Given the description of an element on the screen output the (x, y) to click on. 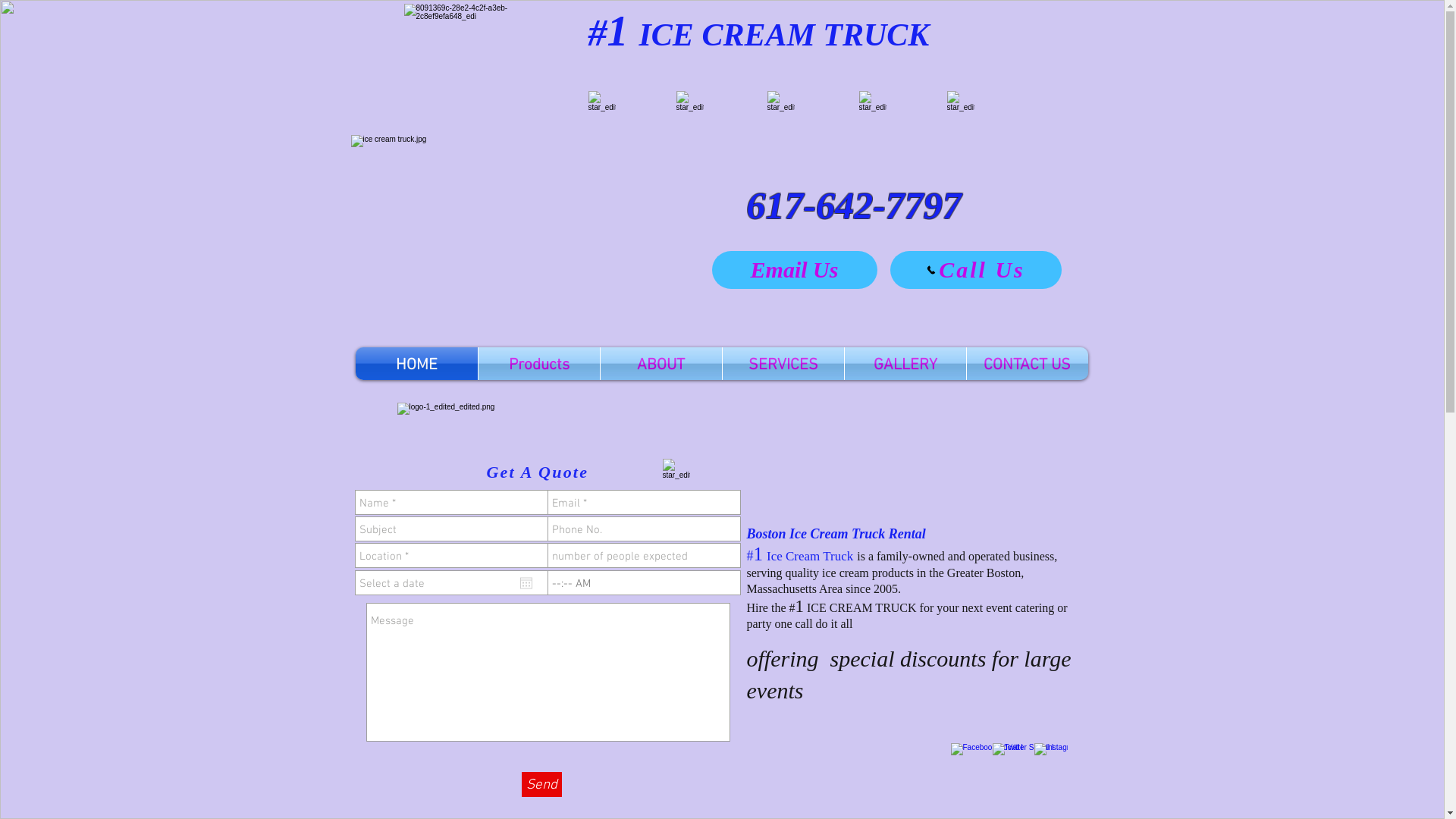
ice cream truck rental Boston Element type: hover (466, 55)
logo-1.png Element type: hover (738, 426)
IMG_2077%20-%20Copy%20-%20Copy_edited.pn Element type: hover (780, 103)
IMG_2077%20-%20Copy%20-%20Copy_edited.pn Element type: hover (601, 103)
HOME Element type: text (415, 363)
Call Us Element type: text (975, 269)
ice cream truck for parties Element type: hover (519, 235)
Email Us Element type: text (793, 269)
Products Element type: text (538, 363)
GALLERY Element type: text (905, 363)
Send Element type: text (541, 784)
IMG_2077%20-%20Copy%20-%20Copy_edited.pn Element type: hover (871, 103)
SERVICES Element type: text (782, 363)
ABOUT Element type: text (660, 363)
IMG_2077%20-%20Copy%20-%20Copy_edited.pn Element type: hover (689, 103)
IMG_2077%20-%20Copy%20-%20Copy_edited.pn Element type: hover (959, 103)
IMG_2077%20-%20Copy%20-%20Copy_edited.pn Element type: hover (676, 471)
CONTACT US Element type: text (1026, 363)
